Given the description of an element on the screen output the (x, y) to click on. 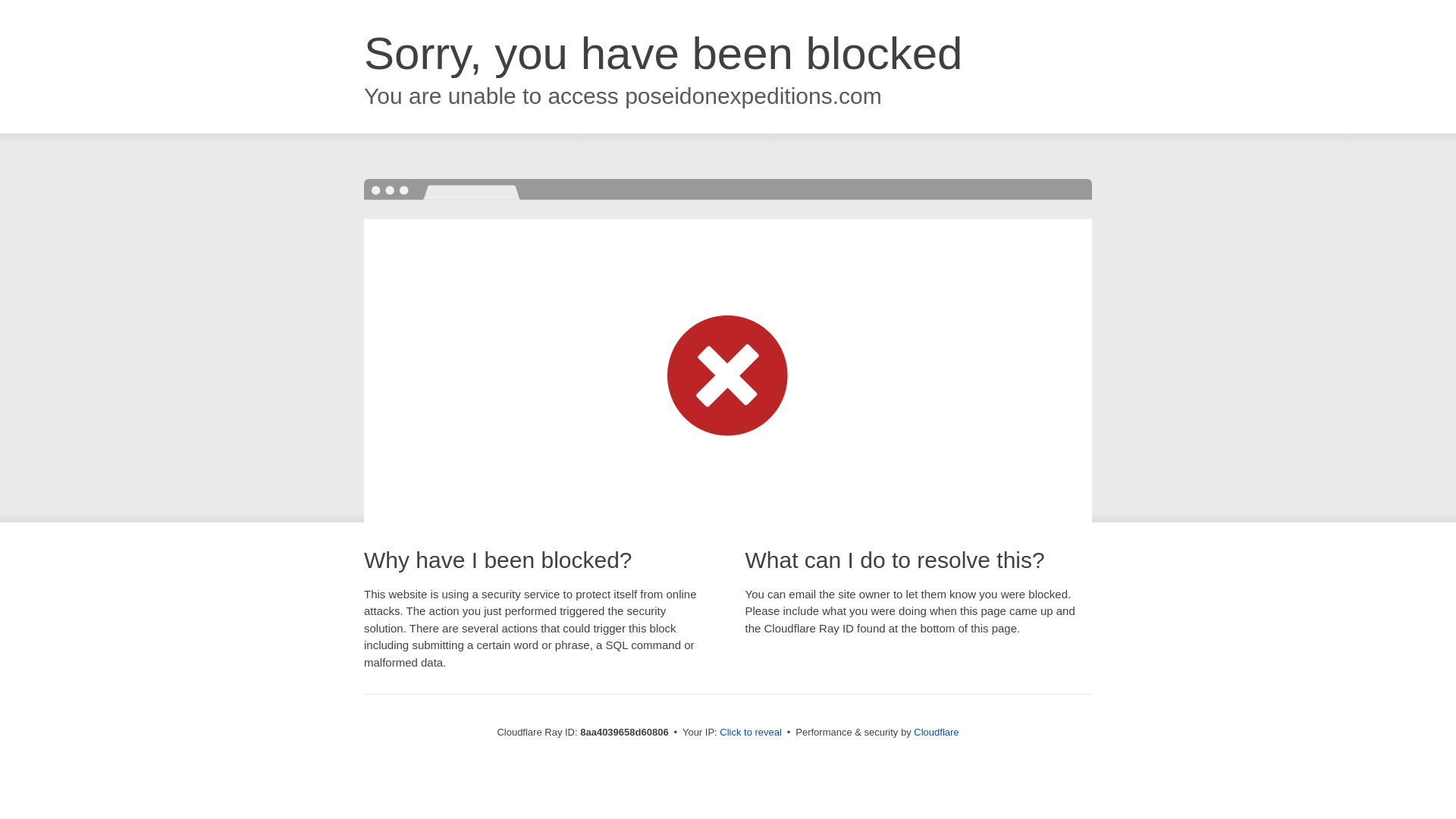
Cloudflare (936, 731)
Click to reveal (750, 732)
